Given the description of an element on the screen output the (x, y) to click on. 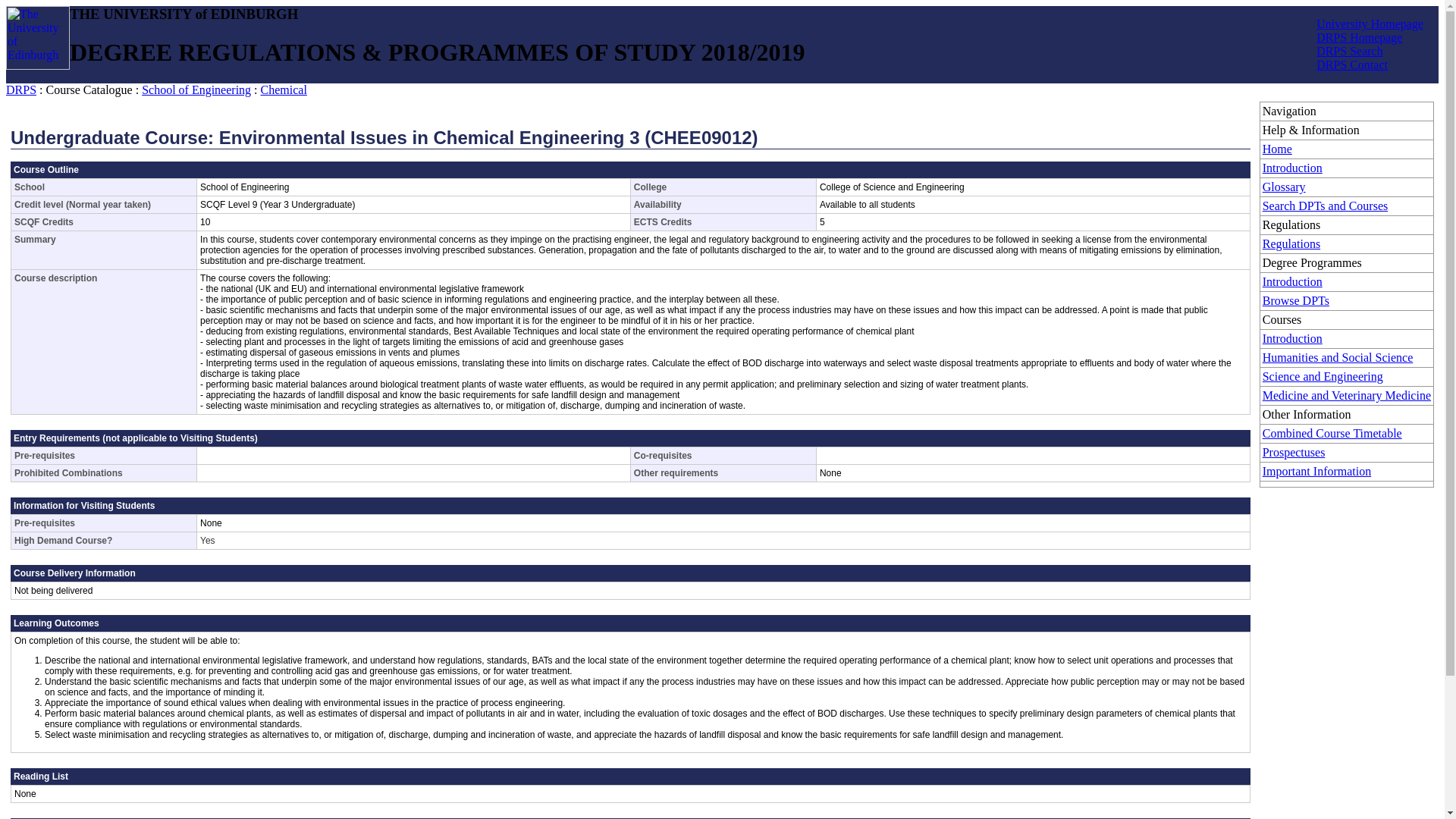
Glossary (1284, 186)
DRPS Contact (1351, 64)
DRPS Homepage (1359, 37)
Introduction (1292, 281)
Medicine and Veterinary Medicine (1346, 395)
Science and Engineering (1322, 376)
Introduction (1292, 167)
Prospectuses (1293, 451)
School of Engineering (195, 89)
Browse DPTs (1295, 300)
